Given the description of an element on the screen output the (x, y) to click on. 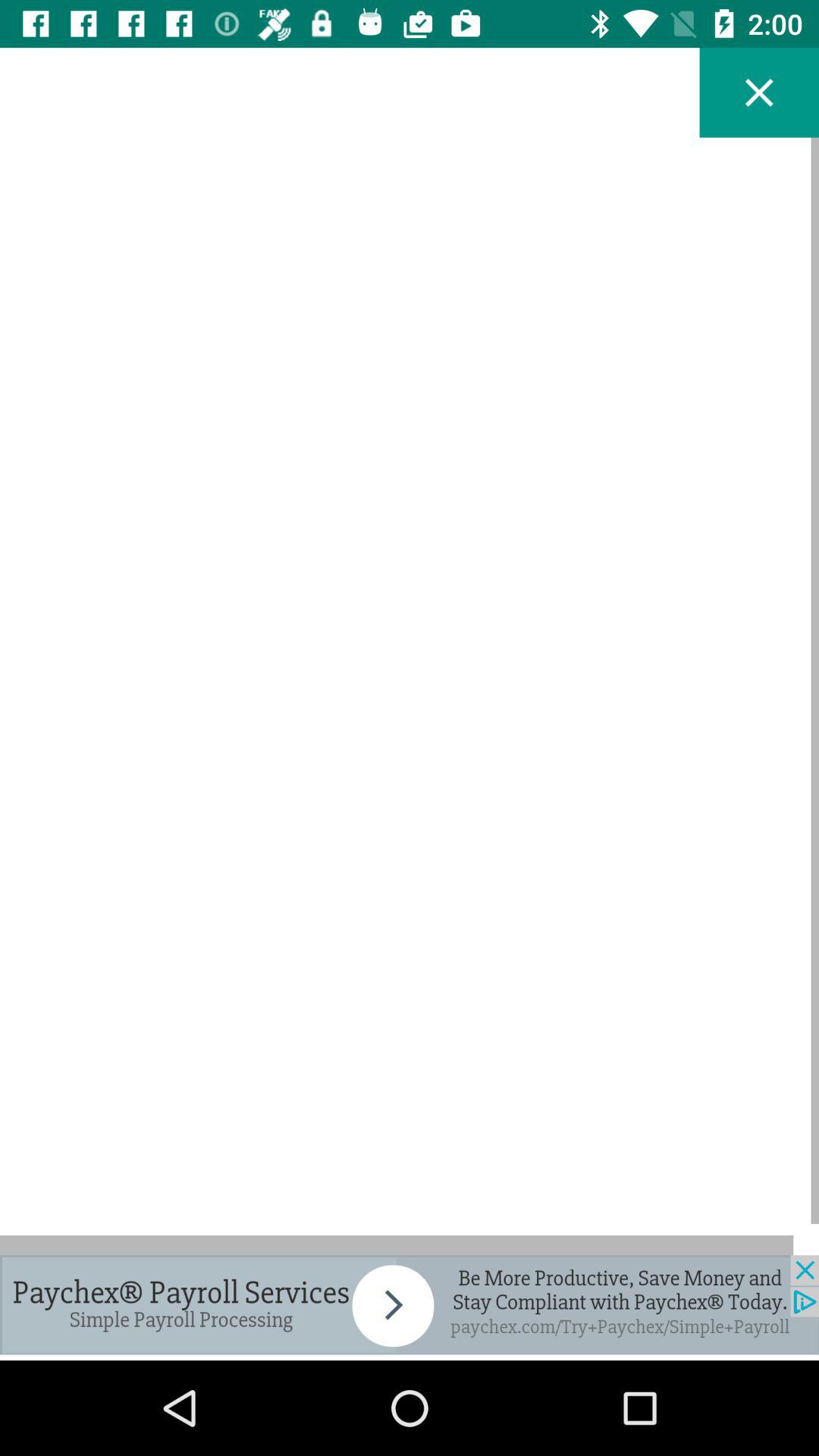
paychex advertisement (409, 1304)
